Given the description of an element on the screen output the (x, y) to click on. 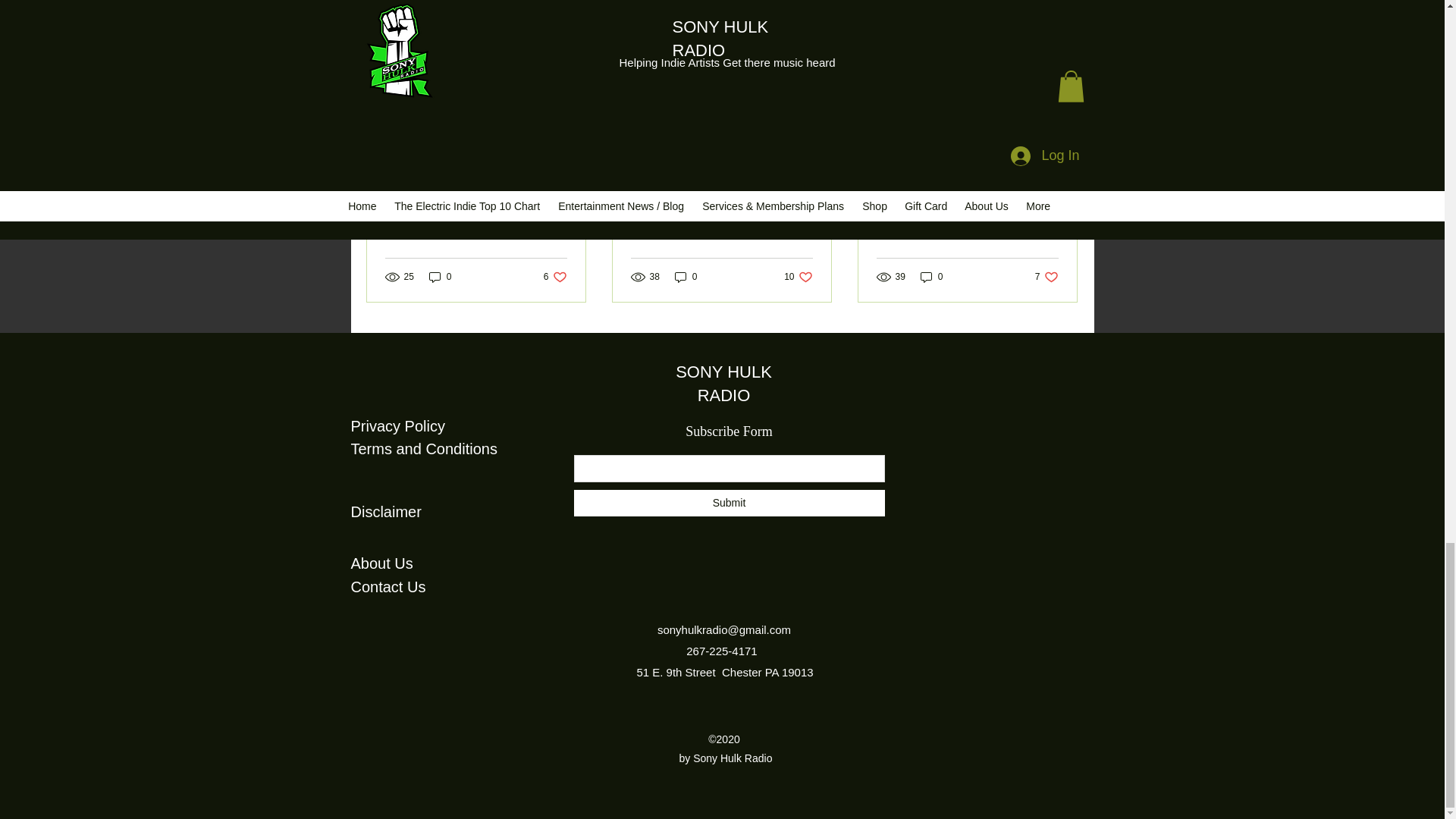
See All (555, 277)
Sony Hulk Radio "All New Merch Store" (1061, 39)
0 (476, 223)
